Given the description of an element on the screen output the (x, y) to click on. 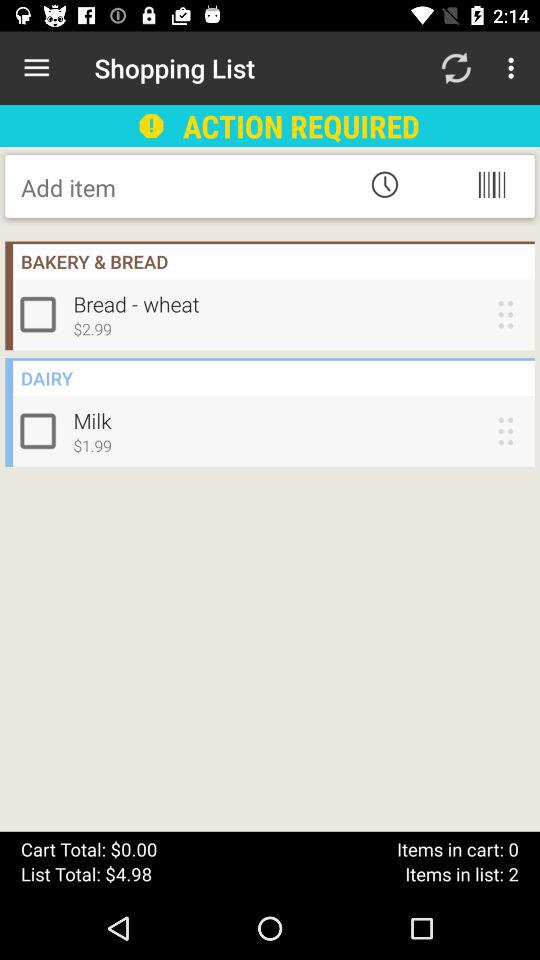
select option (41, 314)
